Given the description of an element on the screen output the (x, y) to click on. 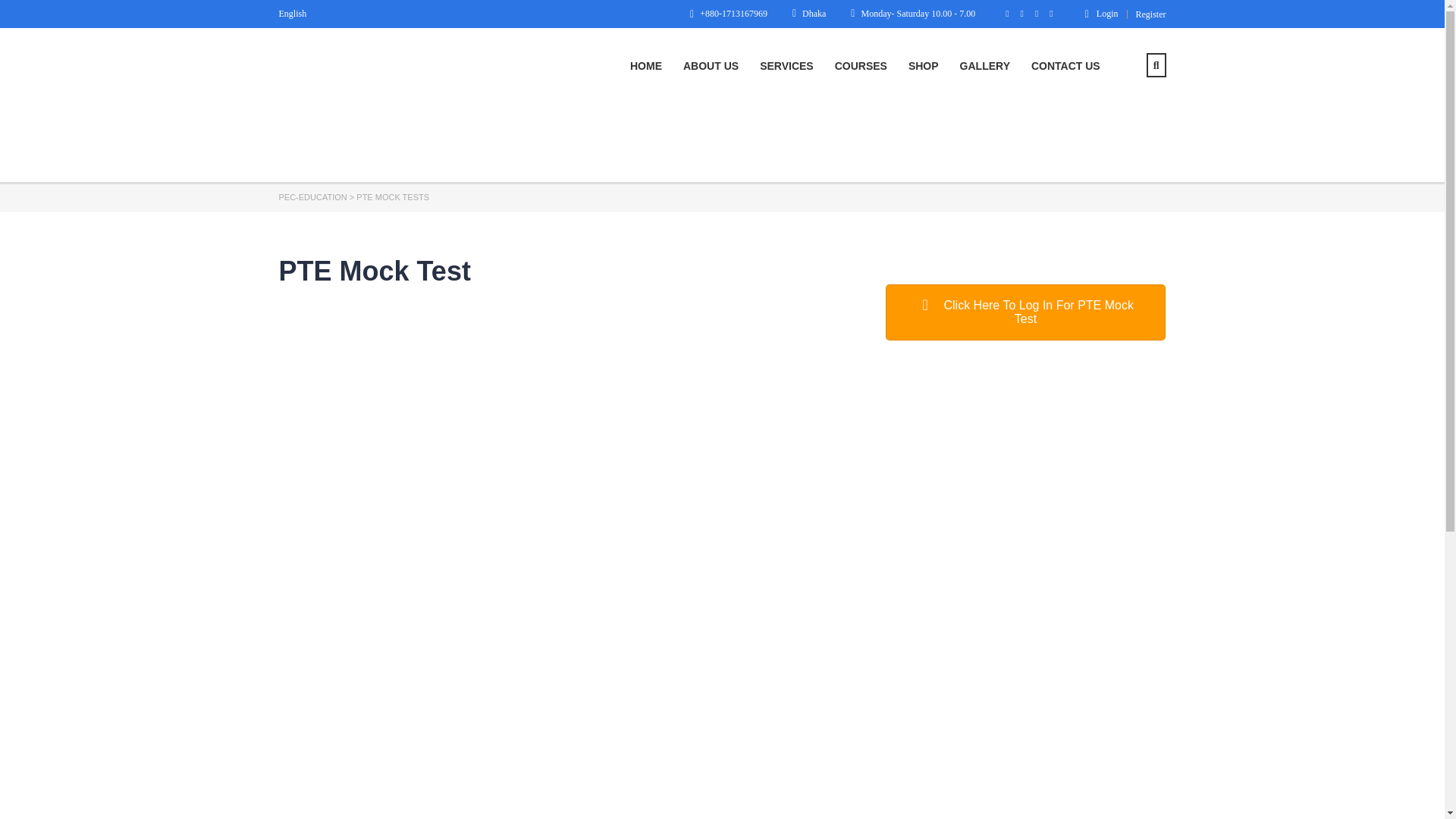
Register (1150, 13)
Go to PEC-Education. (313, 196)
Login (1101, 13)
